Given the description of an element on the screen output the (x, y) to click on. 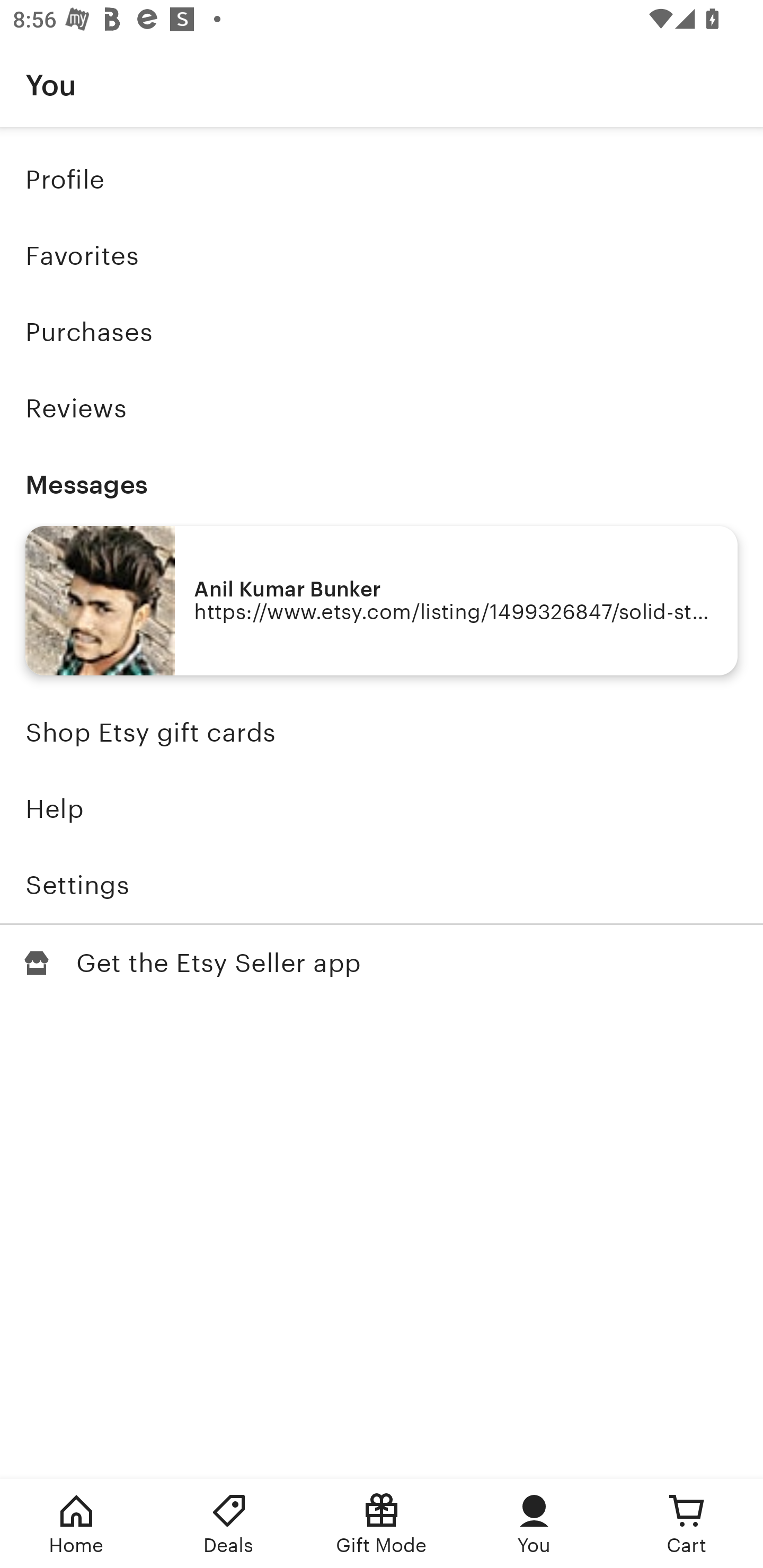
Profile (381, 179)
Favorites (381, 255)
Purchases (381, 332)
Reviews (381, 408)
Messages (381, 484)
Shop Etsy gift cards (381, 732)
Help (381, 808)
Settings (381, 884)
Get the Etsy Seller app (381, 963)
Home (76, 1523)
Deals (228, 1523)
Gift Mode (381, 1523)
Cart (686, 1523)
